Given the description of an element on the screen output the (x, y) to click on. 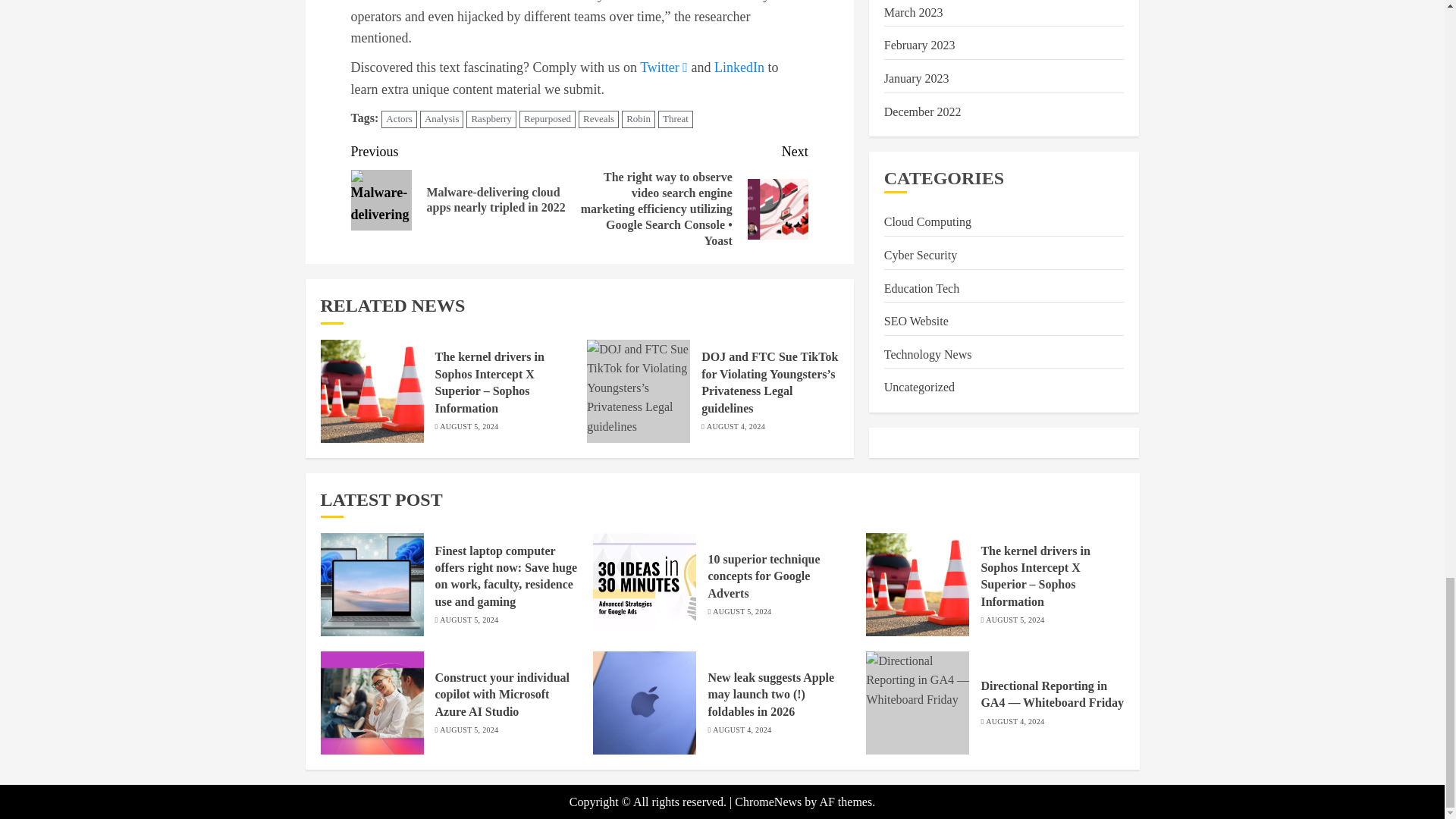
LinkedIn (739, 67)
Threat (675, 118)
Analysis (442, 118)
10 superior technique concepts for Google Adverts (643, 584)
Repurposed (547, 118)
Reveals (598, 118)
Raspberry (490, 118)
Malware-delivering cloud apps nearly tripled in 2022 (380, 199)
Robin (638, 118)
Actors (398, 118)
